Given the description of an element on the screen output the (x, y) to click on. 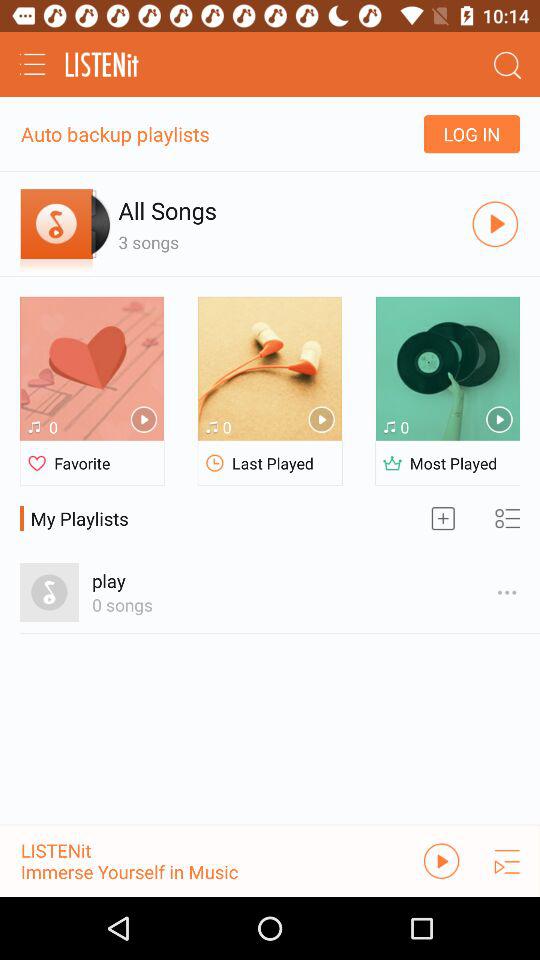
click the logo of favorite (37, 463)
select the image which is above the most played (447, 368)
select the pause icon in the bottom right (441, 860)
select the playlist icon in the bottom right (507, 860)
click on the options icon which is beside play (507, 592)
select the icon which is beside the my playlists (442, 518)
click on the icon which is beside the most played (391, 463)
